Given the description of an element on the screen output the (x, y) to click on. 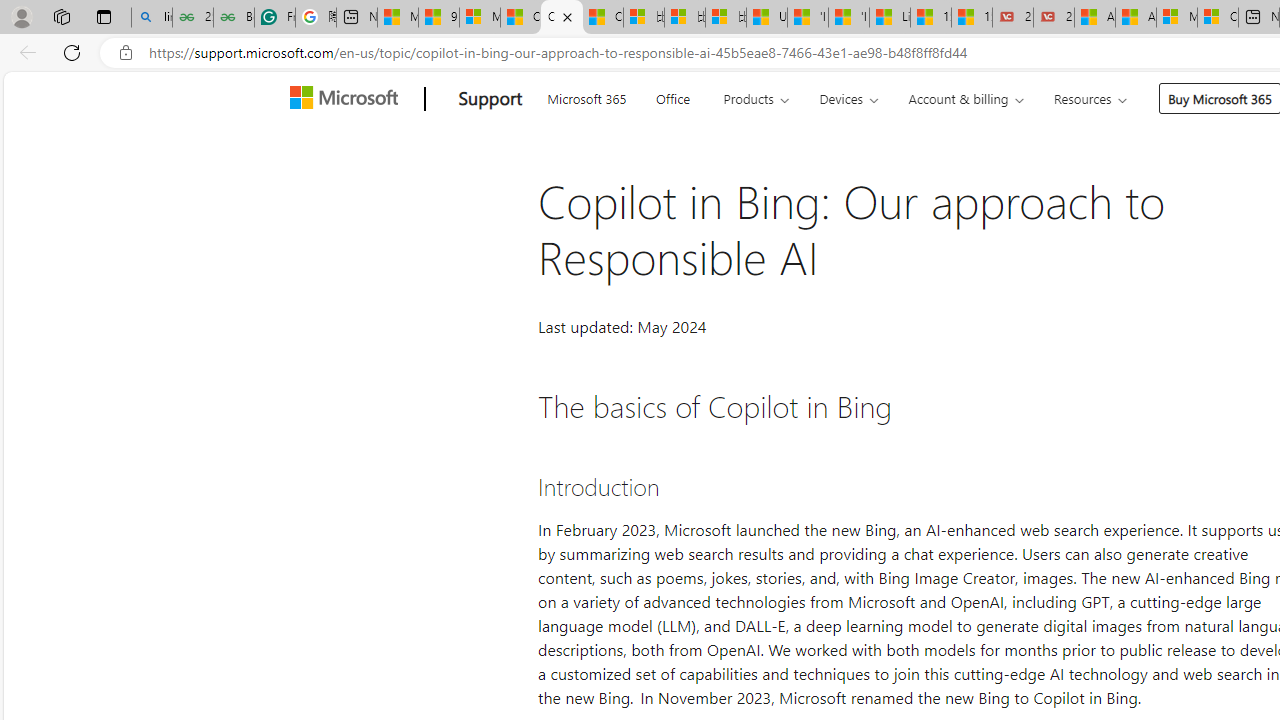
Office (672, 96)
Cloud Computing Services | Microsoft Azure (1217, 17)
Lifestyle - MSN (890, 17)
Office (672, 96)
